Given the description of an element on the screen output the (x, y) to click on. 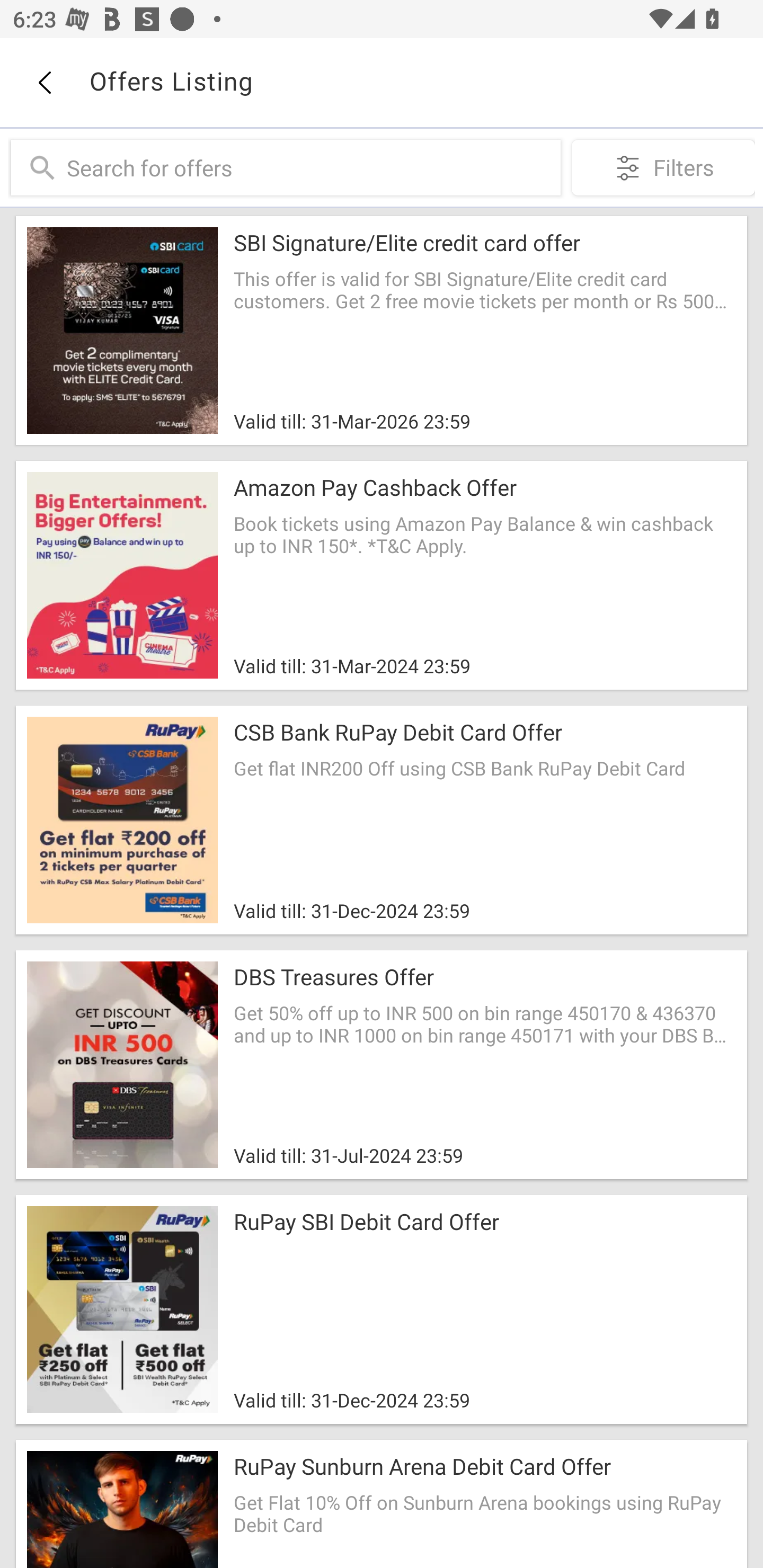
Back (44, 82)
Filter Filters (663, 167)
Search for offers (309, 167)
